Given the description of an element on the screen output the (x, y) to click on. 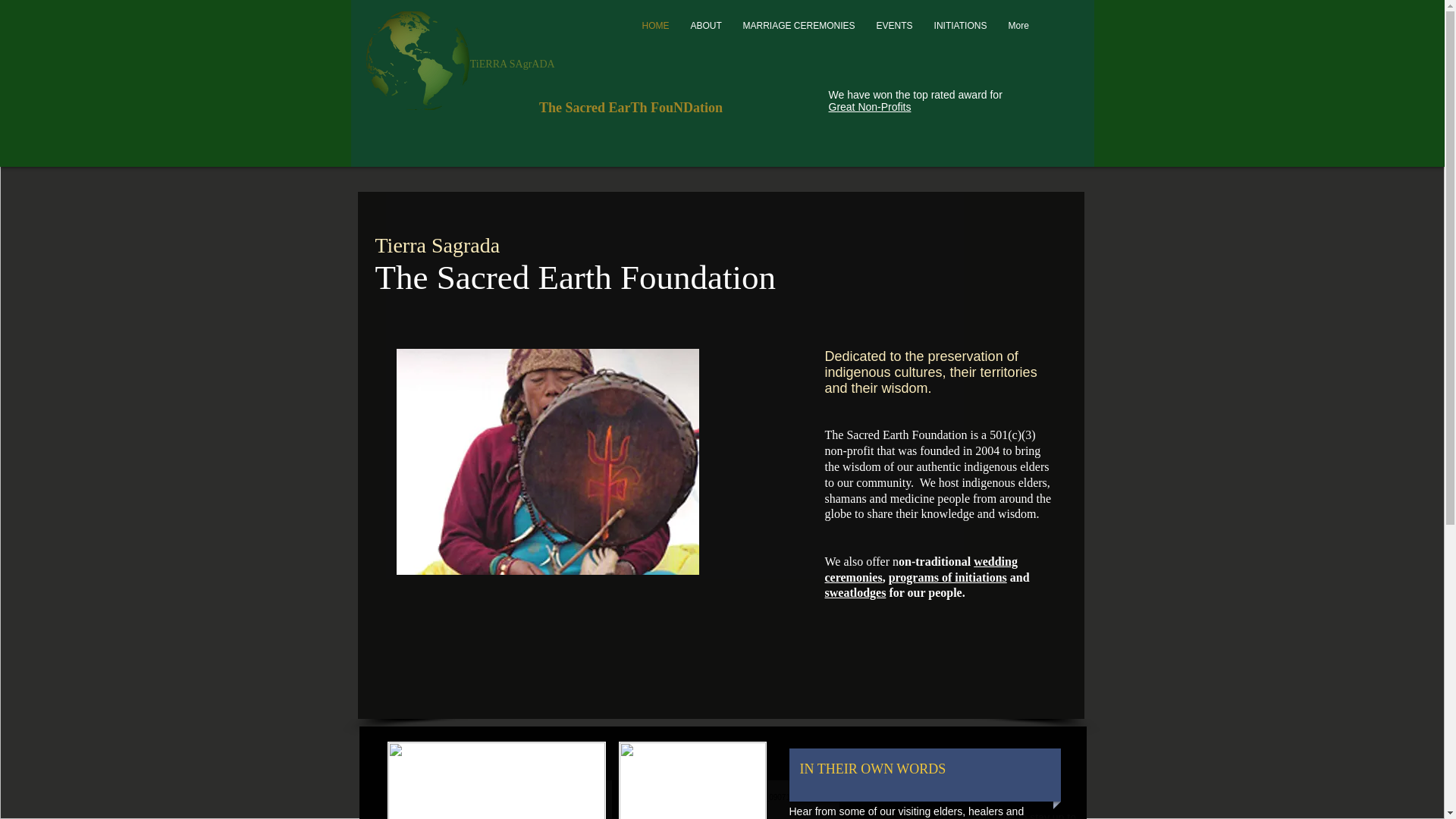
MARRIAGE CEREMONIES (799, 25)
cdBanner.jpg (692, 780)
ABOUT (705, 25)
IN THEIR OWN WORDS (876, 769)
artatsunset.JPG (496, 780)
SUBSCRIBE (904, 815)
Great Non-Profits (869, 106)
INITIATIONS (960, 25)
sweatlodges (855, 592)
EVENTS (894, 25)
programs of initiations (947, 576)
wedding ceremonies (921, 569)
HOME (654, 25)
